Given the description of an element on the screen output the (x, y) to click on. 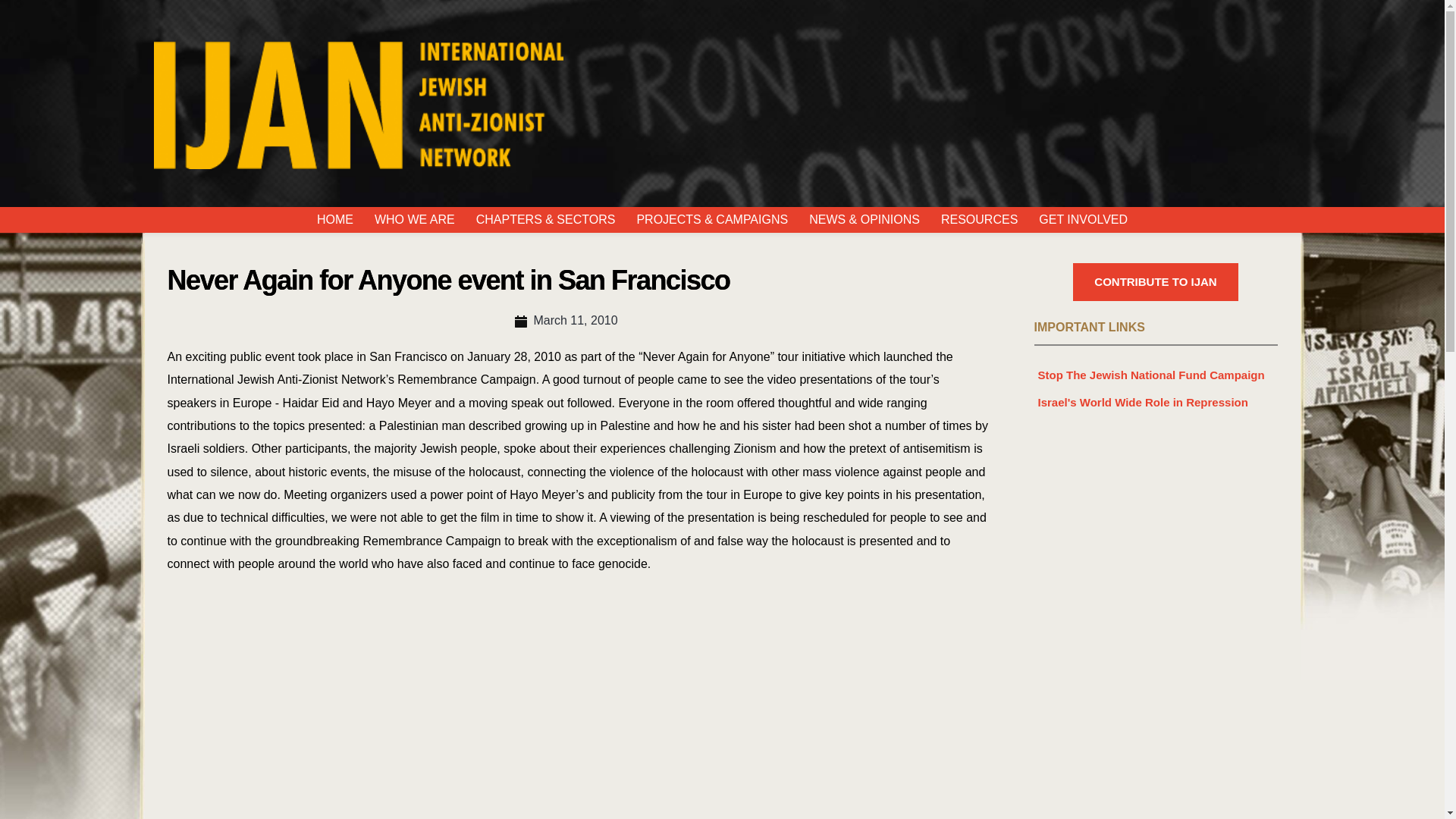
HOME (334, 219)
WHO WE ARE (414, 219)
GET INVOLVED (1083, 219)
RESOURCES (979, 219)
